Given the description of an element on the screen output the (x, y) to click on. 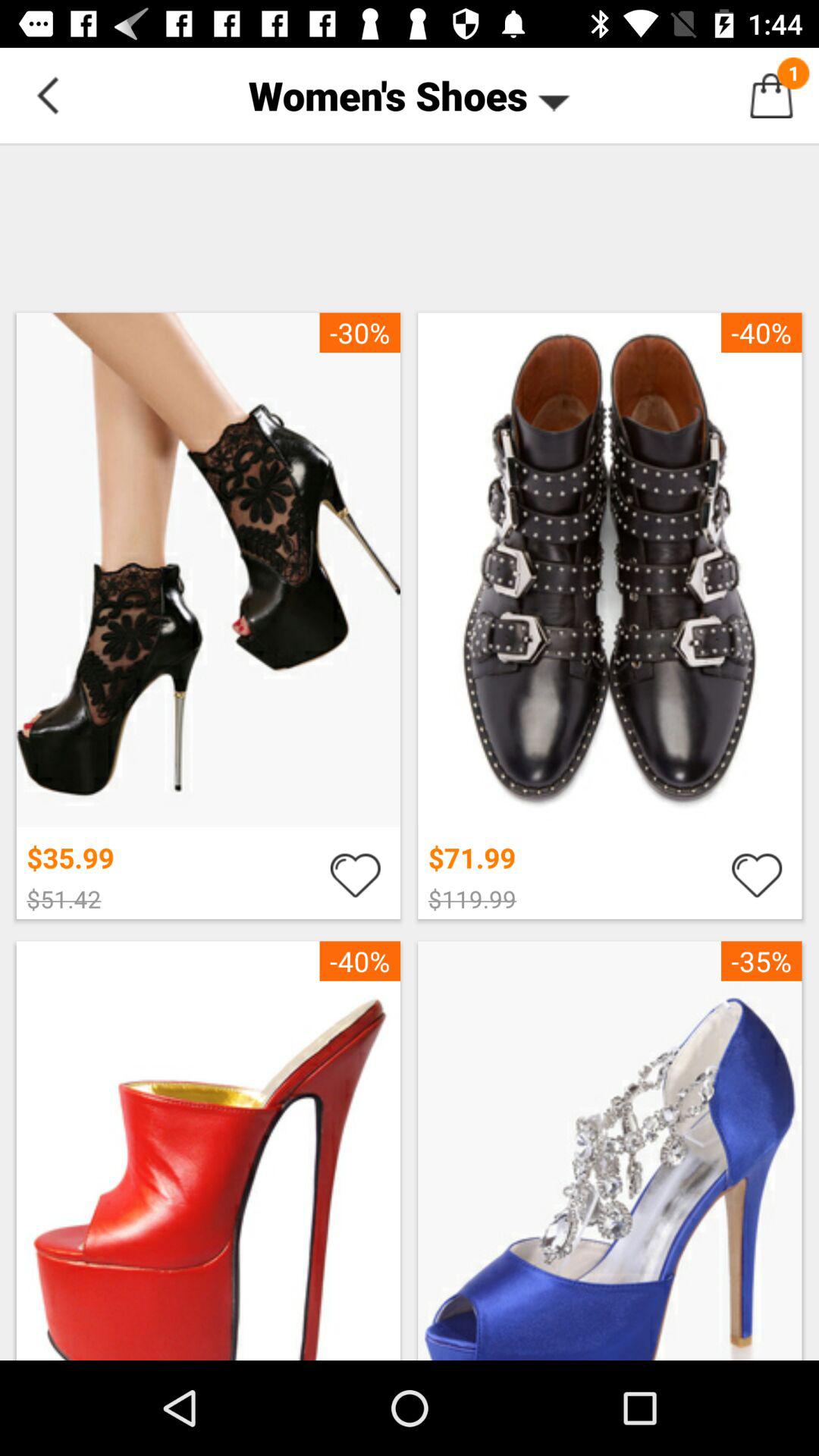
make the item a favorite (355, 874)
